Given the description of an element on the screen output the (x, y) to click on. 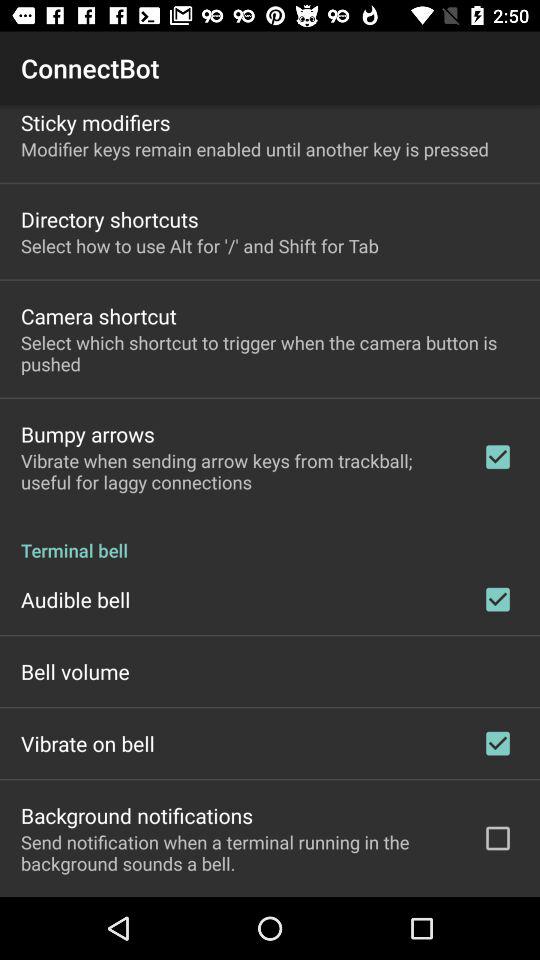
select the app below select which shortcut item (87, 434)
